Given the description of an element on the screen output the (x, y) to click on. 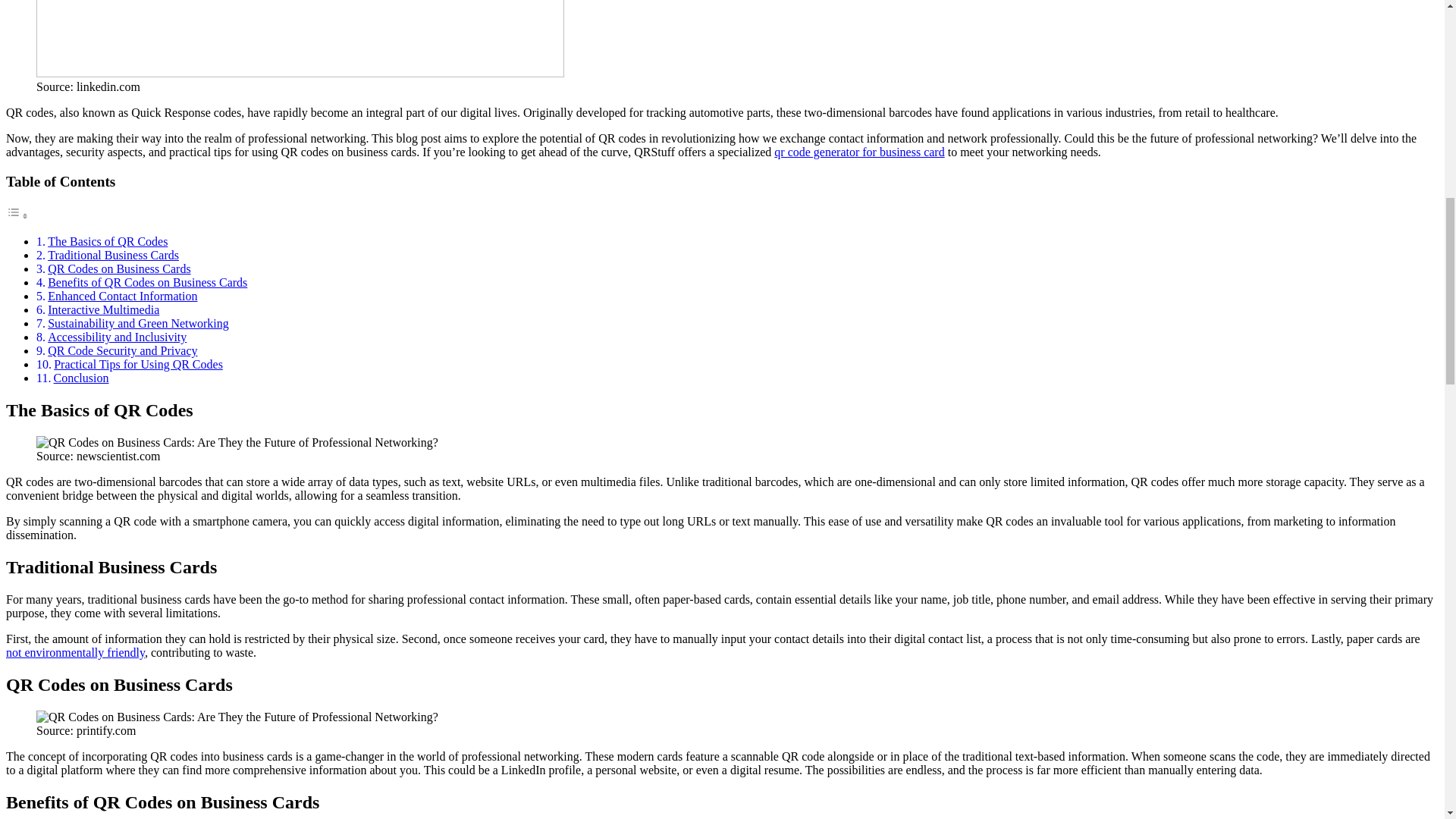
qr code generator for business card (858, 151)
Practical Tips for Using QR Codes (137, 364)
QR Code Security and Privacy (122, 350)
Conclusion (81, 377)
Benefits of QR Codes on Business Cards (147, 282)
QR Code Security and Privacy (122, 350)
Enhanced Contact Information (122, 295)
Accessibility and Inclusivity (117, 336)
Traditional Business Cards (113, 254)
QR Codes on Business Cards (119, 268)
Interactive Multimedia (103, 309)
Traditional Business Cards (113, 254)
Enhanced Contact Information (122, 295)
Benefits of QR Codes on Business Cards (147, 282)
The Basics of QR Codes (107, 241)
